Given the description of an element on the screen output the (x, y) to click on. 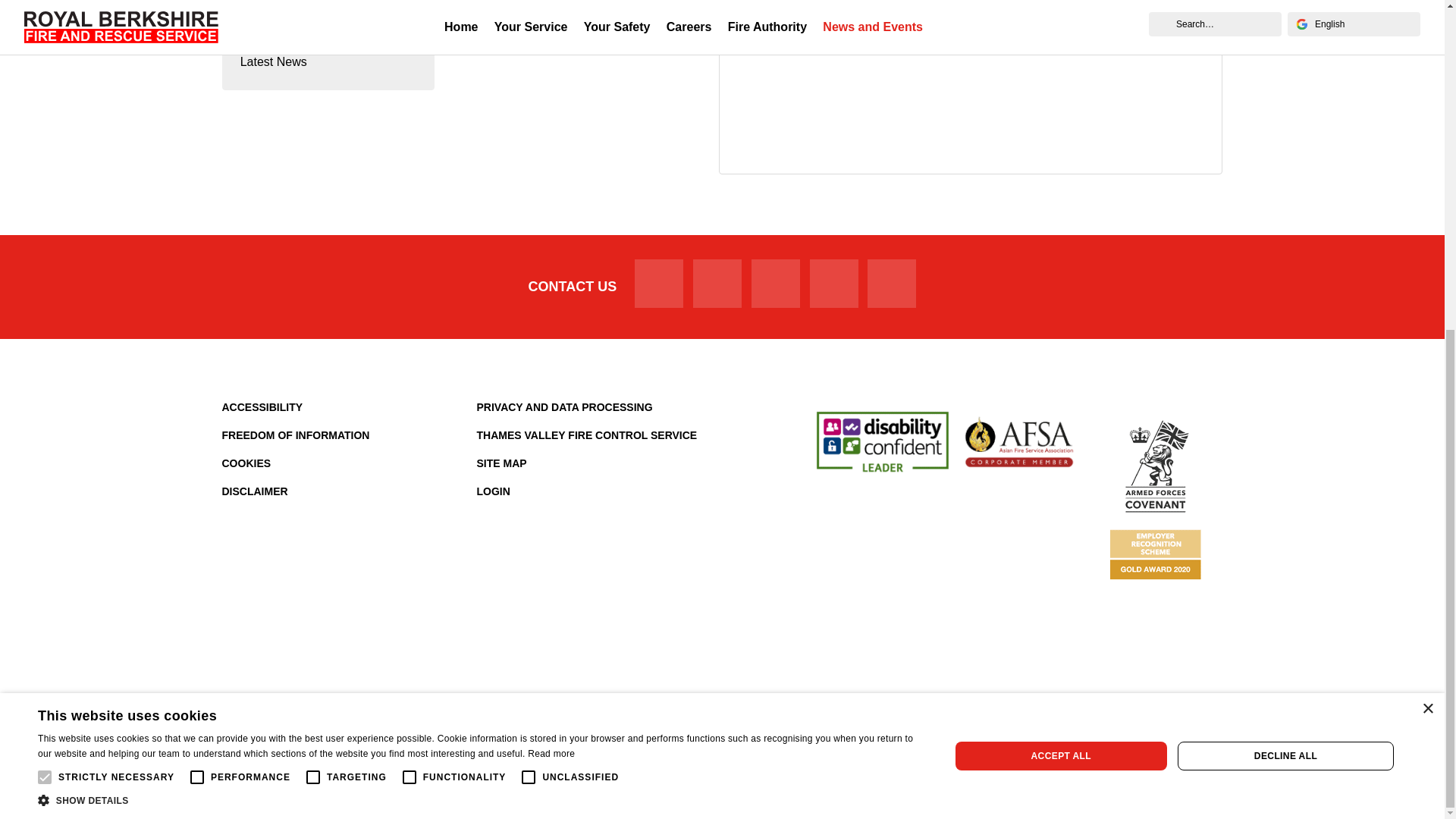
Contact Royal Berkshire Fire and Rescue Service (572, 286)
